Given the description of an element on the screen output the (x, y) to click on. 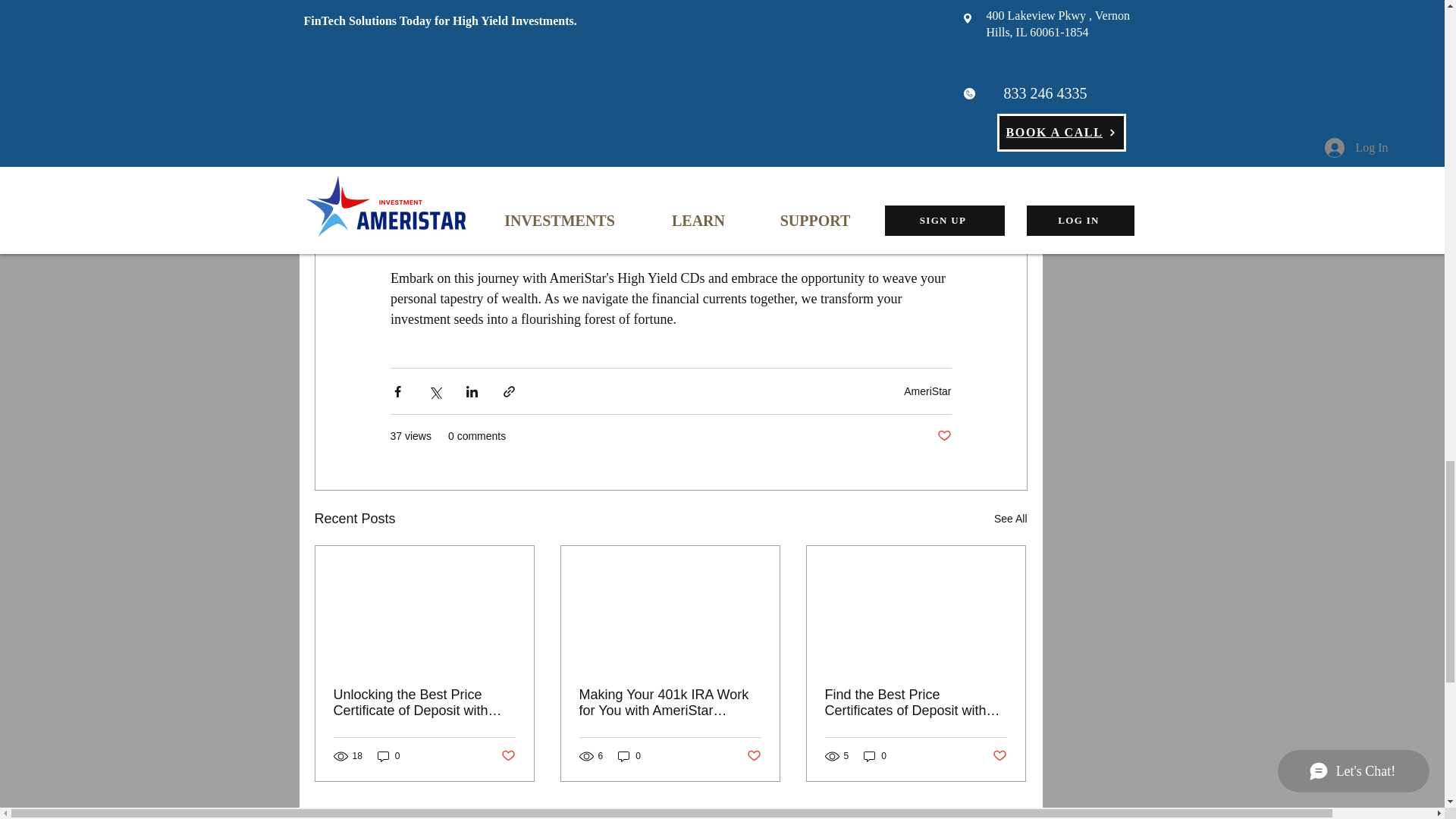
Post not marked as liked (944, 436)
0 (388, 756)
See All (1010, 518)
AmeriStar (927, 390)
Post not marked as liked (507, 756)
